Given the description of an element on the screen output the (x, y) to click on. 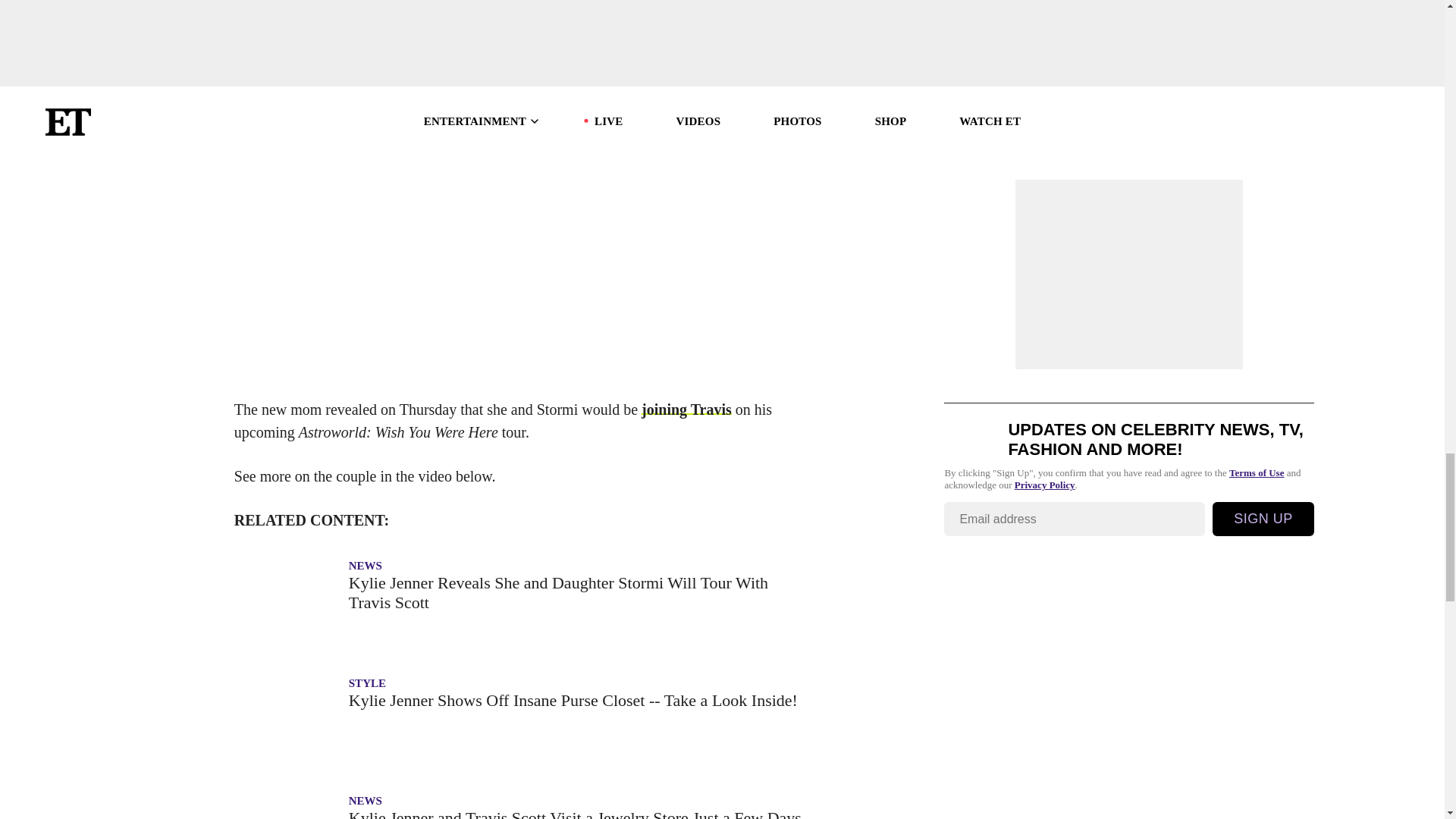
Travis Scott (537, 10)
joining Travis (687, 409)
